Given the description of an element on the screen output the (x, y) to click on. 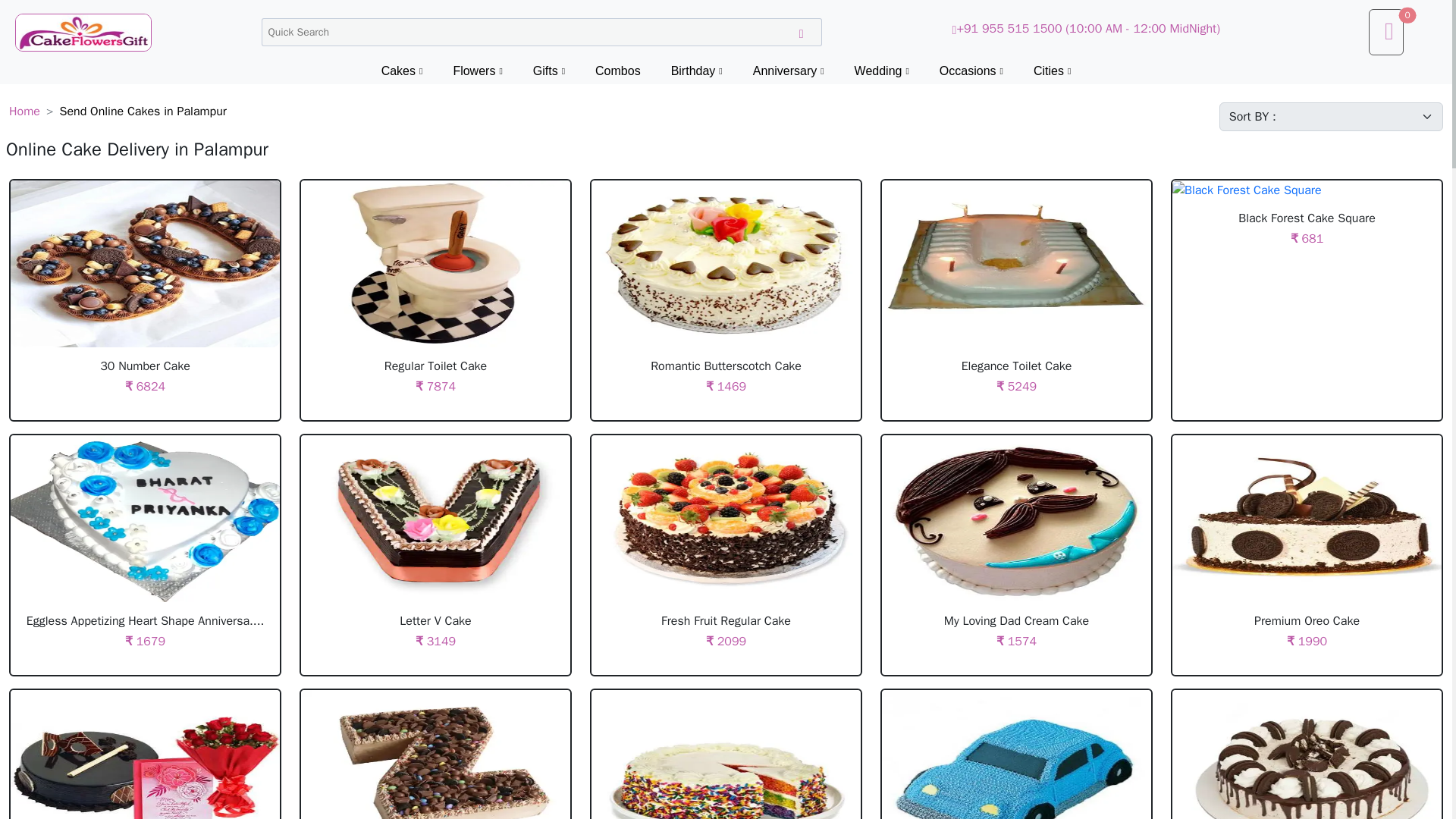
0 (1385, 28)
0 (1385, 31)
Cakes (402, 71)
Quick Search (540, 31)
Search (801, 31)
Combos (617, 71)
